Given the description of an element on the screen output the (x, y) to click on. 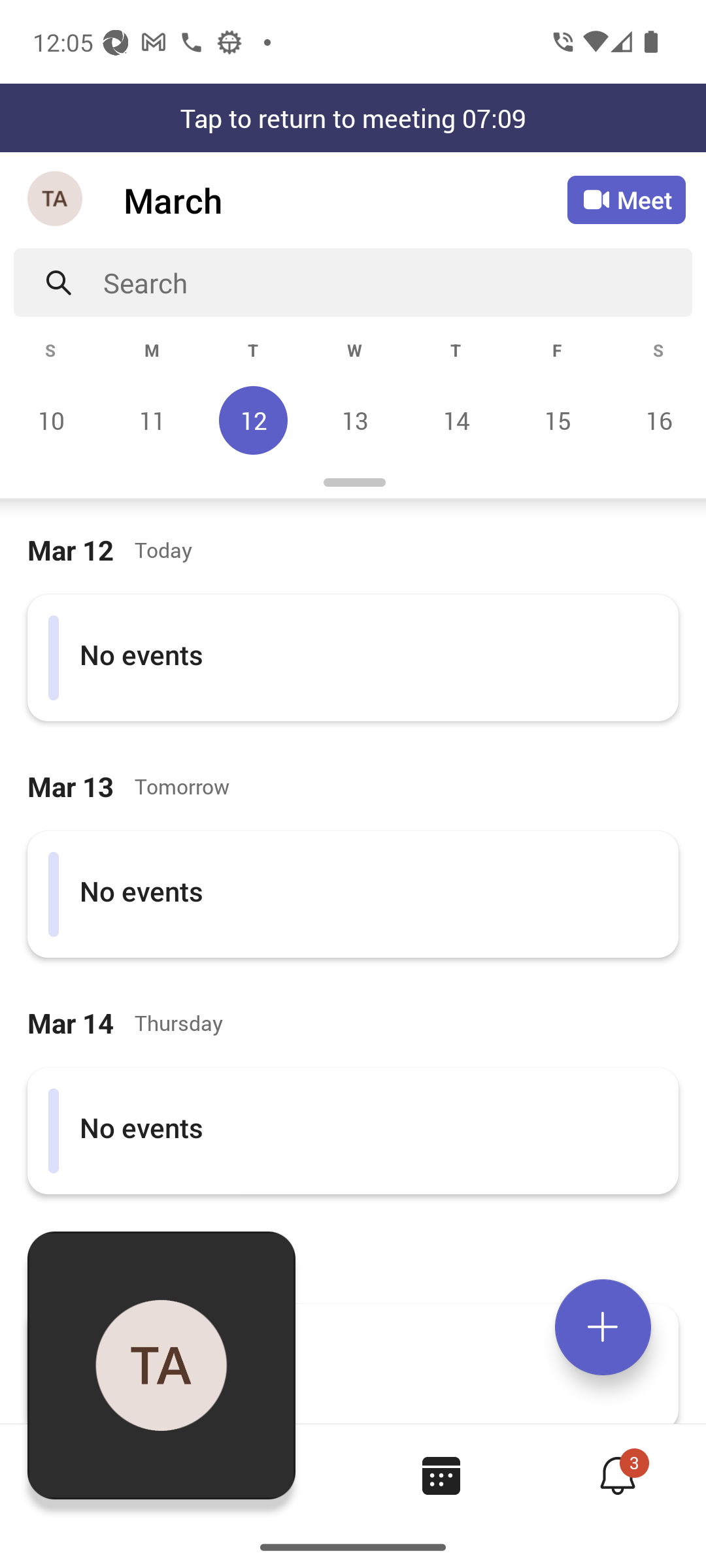
Tap to return to meeting 07:09 (353, 117)
Navigation (56, 199)
Meet Meet now or join with an ID (626, 199)
March March Calendar Agenda View (345, 199)
Search (397, 281)
Sunday, March 10 10 (50, 420)
Monday, March 11 11 (151, 420)
Tuesday, March 12, Today, Selected 12 (253, 420)
Wednesday, March 13 13 (354, 420)
Thursday, March 14 14 (455, 420)
Friday, March 15 15 (556, 420)
Saturday, March 16 16 (656, 420)
Expand meetings menu (602, 1327)
Calendar tab, 3 of 4 (441, 1475)
Activity tab,4 of 4, not selected, 3 new 3 (617, 1475)
